Given the description of an element on the screen output the (x, y) to click on. 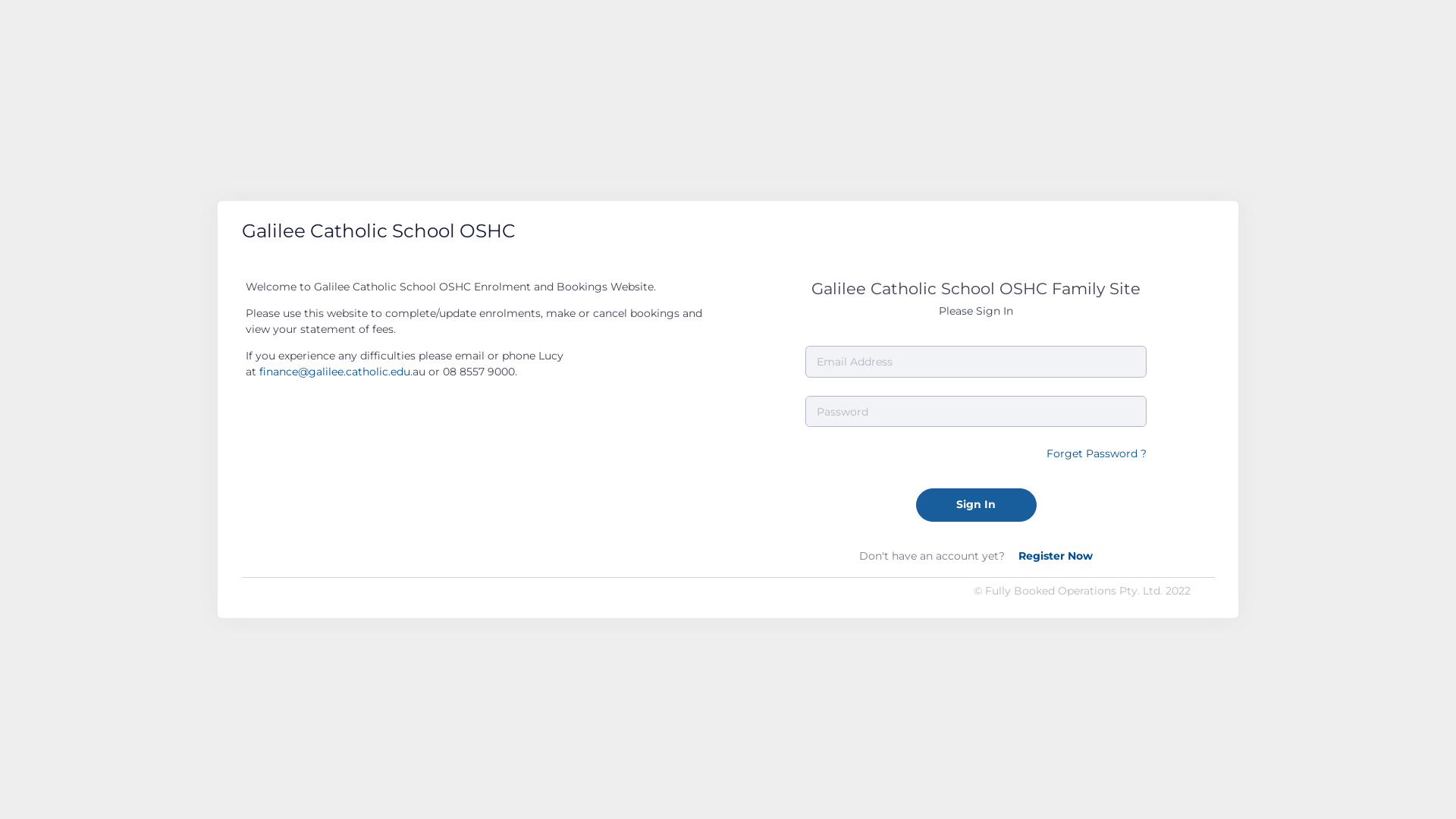
finance@galilee.catholic.edu Element type: text (334, 371)
Sign In Element type: text (976, 504)
Forget Password ? Element type: text (1096, 453)
Register Now Element type: text (1055, 555)
